Given the description of an element on the screen output the (x, y) to click on. 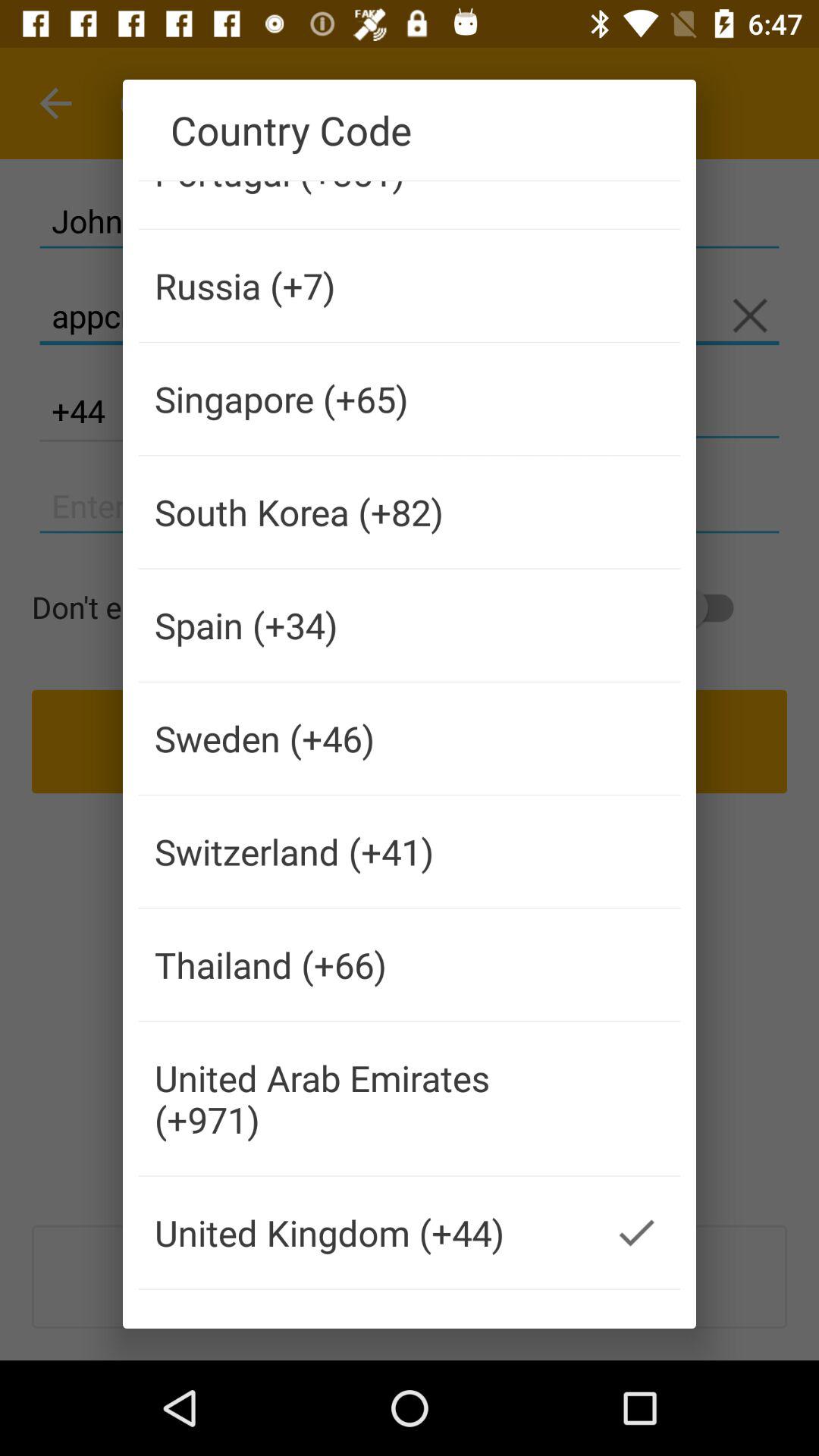
turn on the icon below united arab emirates item (365, 1232)
